Given the description of an element on the screen output the (x, y) to click on. 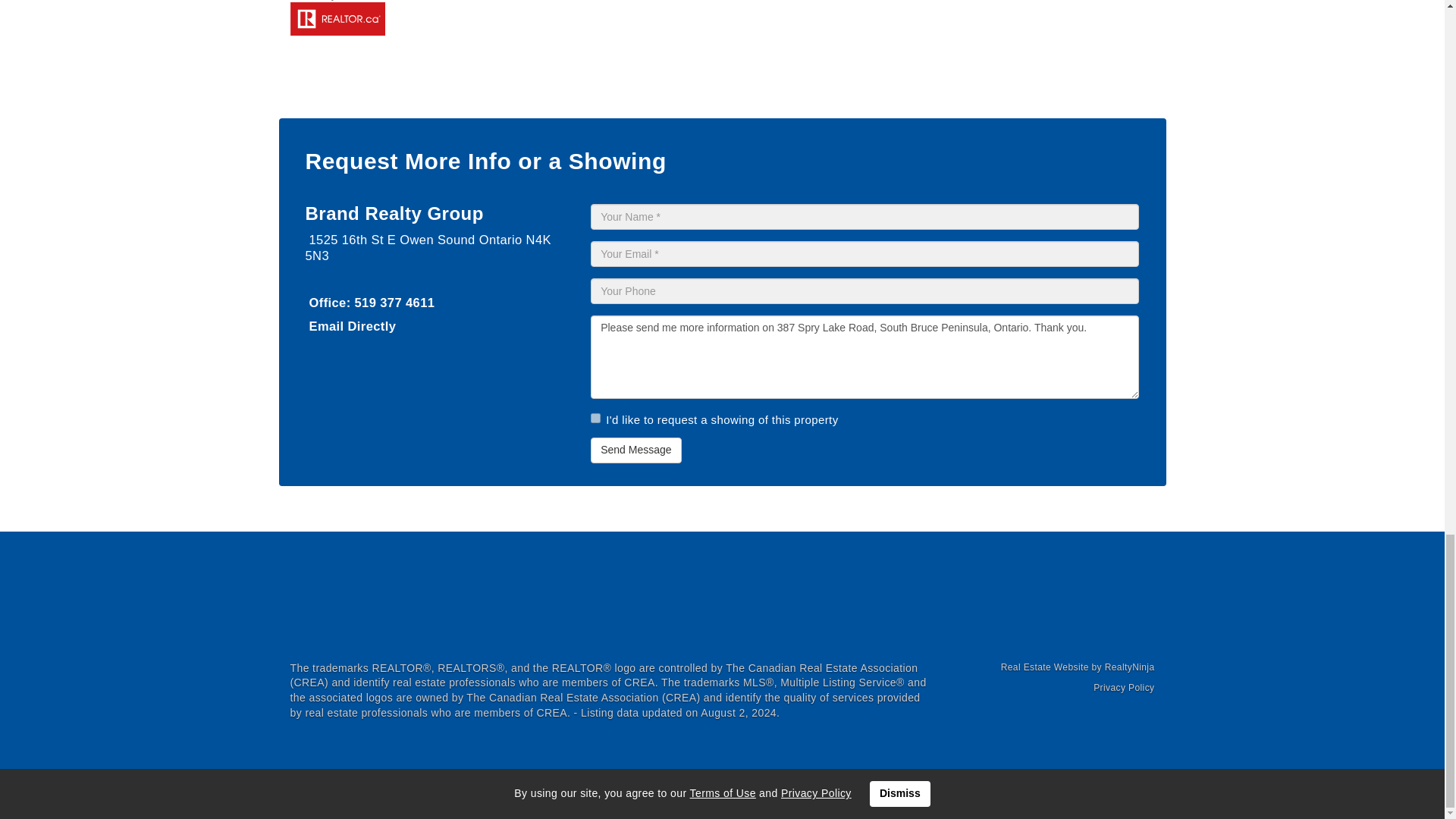
on (595, 418)
